Given the description of an element on the screen output the (x, y) to click on. 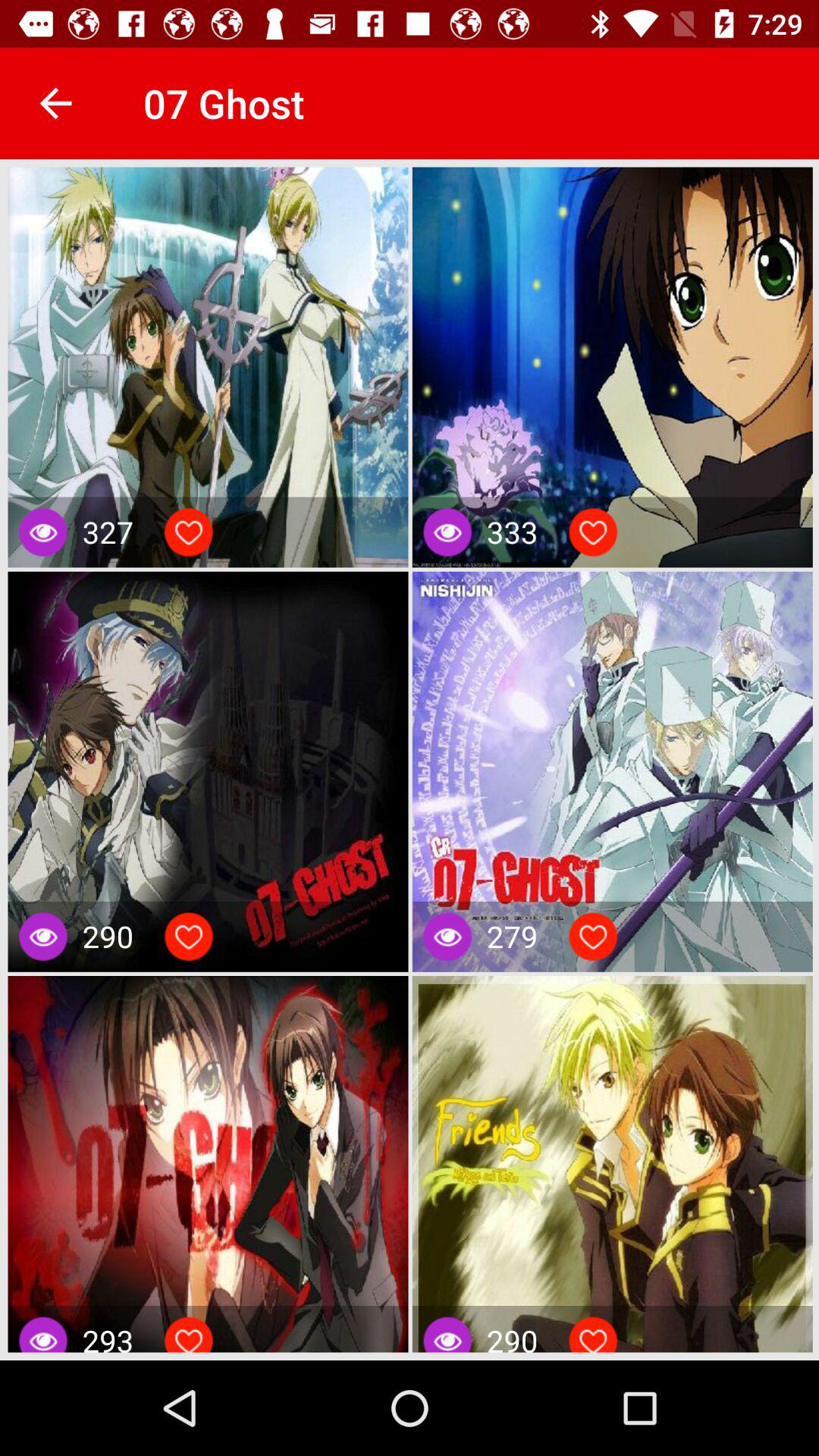
like picture option (593, 532)
